Given the description of an element on the screen output the (x, y) to click on. 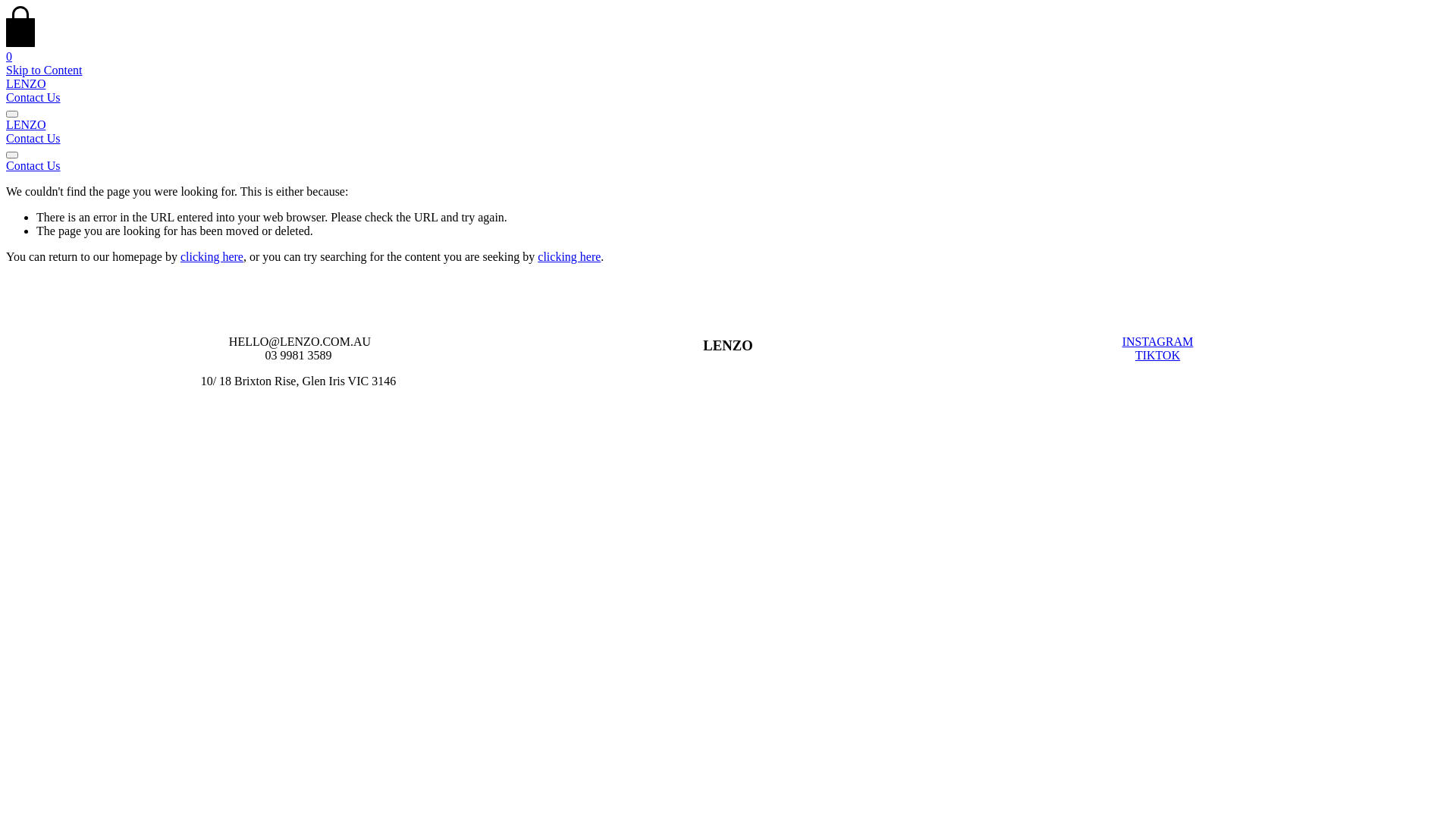
LENZO Element type: text (25, 83)
LENZO Element type: text (25, 124)
clicking here Element type: text (568, 256)
INSTAGRAM Element type: text (1157, 341)
0 Element type: text (727, 49)
clicking here Element type: text (211, 256)
Contact Us Element type: text (33, 137)
Contact Us Element type: text (727, 165)
TIKTOK Element type: text (1157, 354)
Contact Us Element type: text (33, 97)
Skip to Content Element type: text (43, 69)
